Given the description of an element on the screen output the (x, y) to click on. 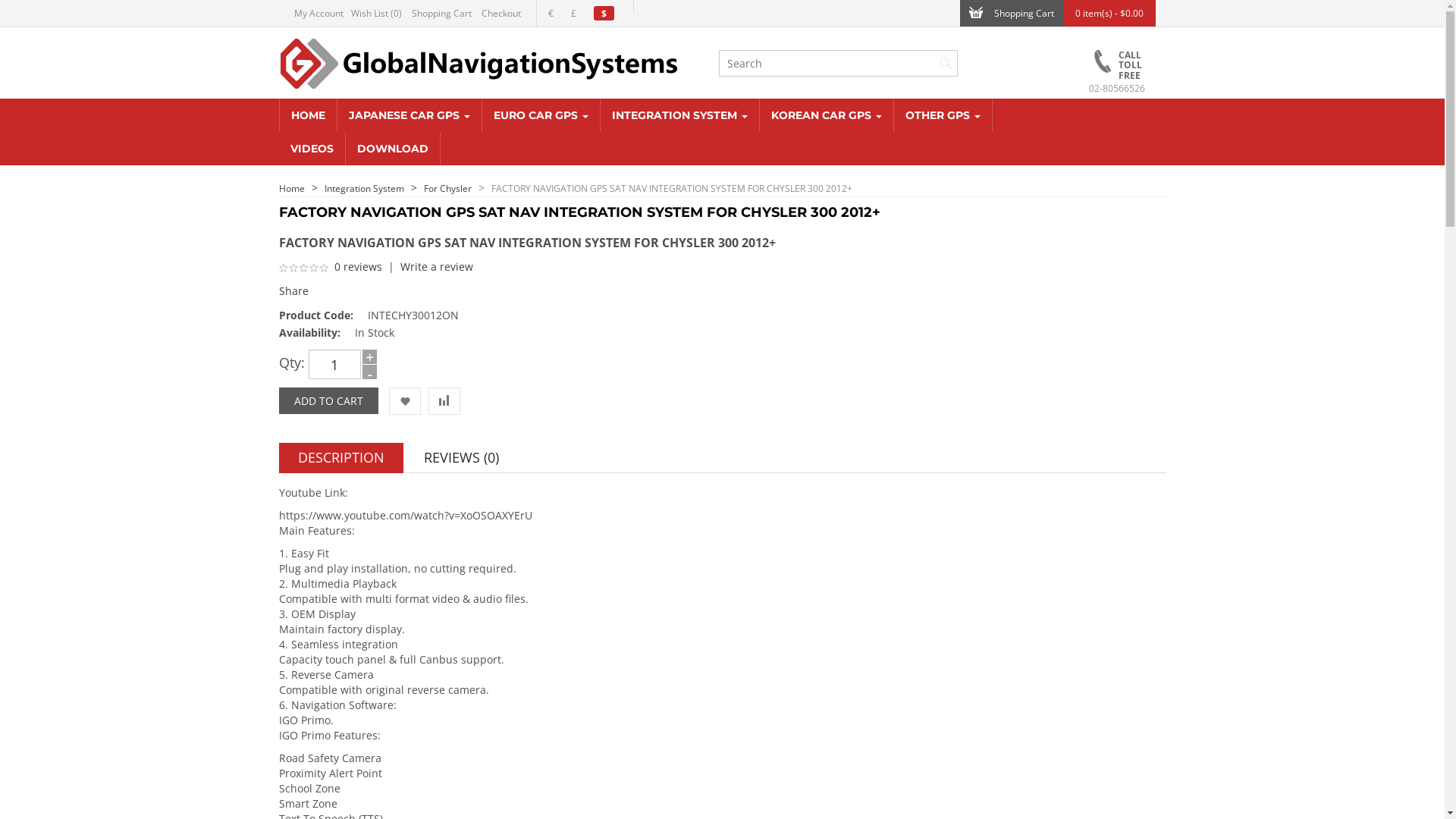
Home Element type: text (291, 188)
OTHER GPS Element type: text (942, 114)
DESCRIPTION Element type: text (341, 457)
For Chysler Element type: text (446, 188)
Integration System Element type: text (364, 188)
$ Element type: text (607, 12)
Checkout Element type: text (503, 12)
INTEGRATION SYSTEM Element type: text (679, 114)
Share Element type: text (293, 290)
My Account Element type: text (322, 12)
JAPANESE CAR GPS Element type: text (408, 114)
KOREAN CAR GPS Element type: text (826, 114)
Wish List (0) Element type: text (379, 12)
VIDEOS Element type: text (312, 148)
Shopping Cart Element type: text (444, 12)
Write a review Element type: text (436, 266)
HOME Element type: text (308, 114)
DOWNLOAD Element type: text (392, 148)
Global Navigation systems Spark Car Audio Element type: hover (480, 63)
EURO CAR GPS Element type: text (541, 114)
0 reviews Element type: text (357, 266)
REVIEWS (0) Element type: text (460, 457)
